Given the description of an element on the screen output the (x, y) to click on. 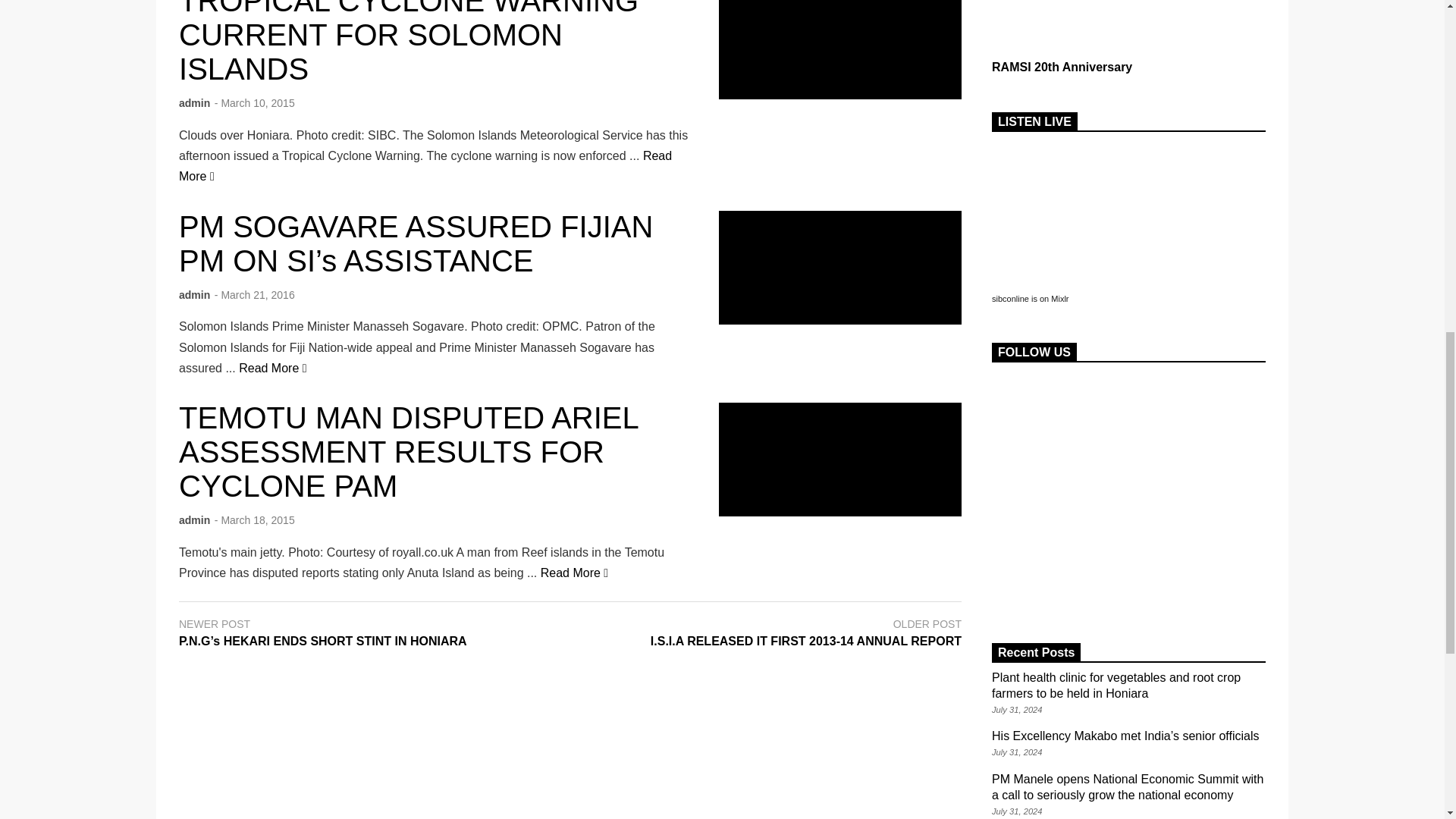
TROPICAL CYCLONE WARNING CURRENT FOR SOLOMON ISLANDS (425, 165)
TROPICAL CYCLONE WARNING CURRENT FOR SOLOMON ISLANDS (409, 42)
TEMOTU MAN DISPUTED ARIEL ASSESSMENT RESULTS FOR CYCLONE PAM (839, 459)
TROPICAL CYCLONE WARNING CURRENT FOR SOLOMON ISLANDS (839, 49)
